Given the description of an element on the screen output the (x, y) to click on. 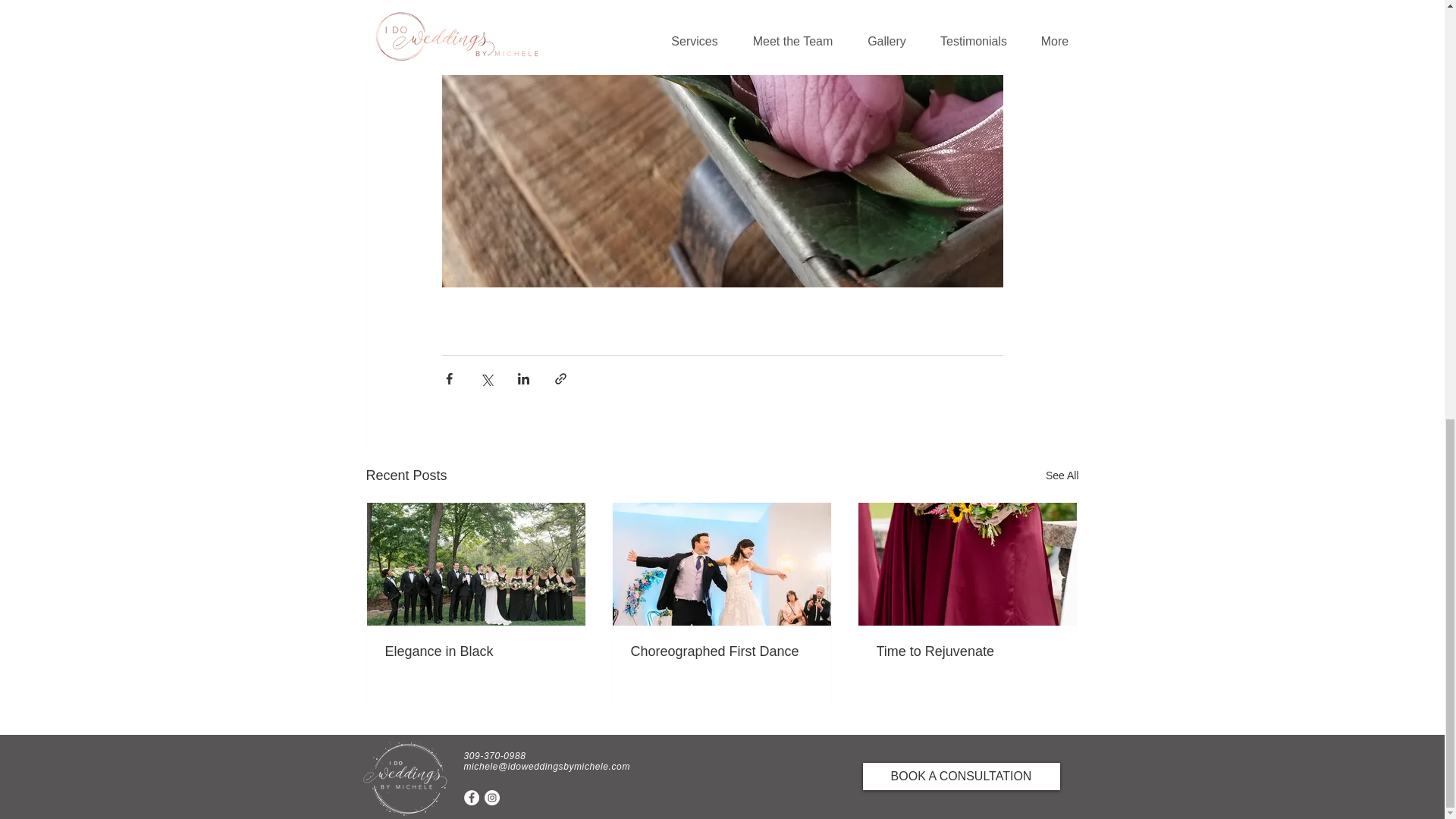
Choreographed First Dance (721, 651)
Time to Rejuvenate (967, 651)
See All (1061, 475)
Elegance in Black (476, 651)
